Given the description of an element on the screen output the (x, y) to click on. 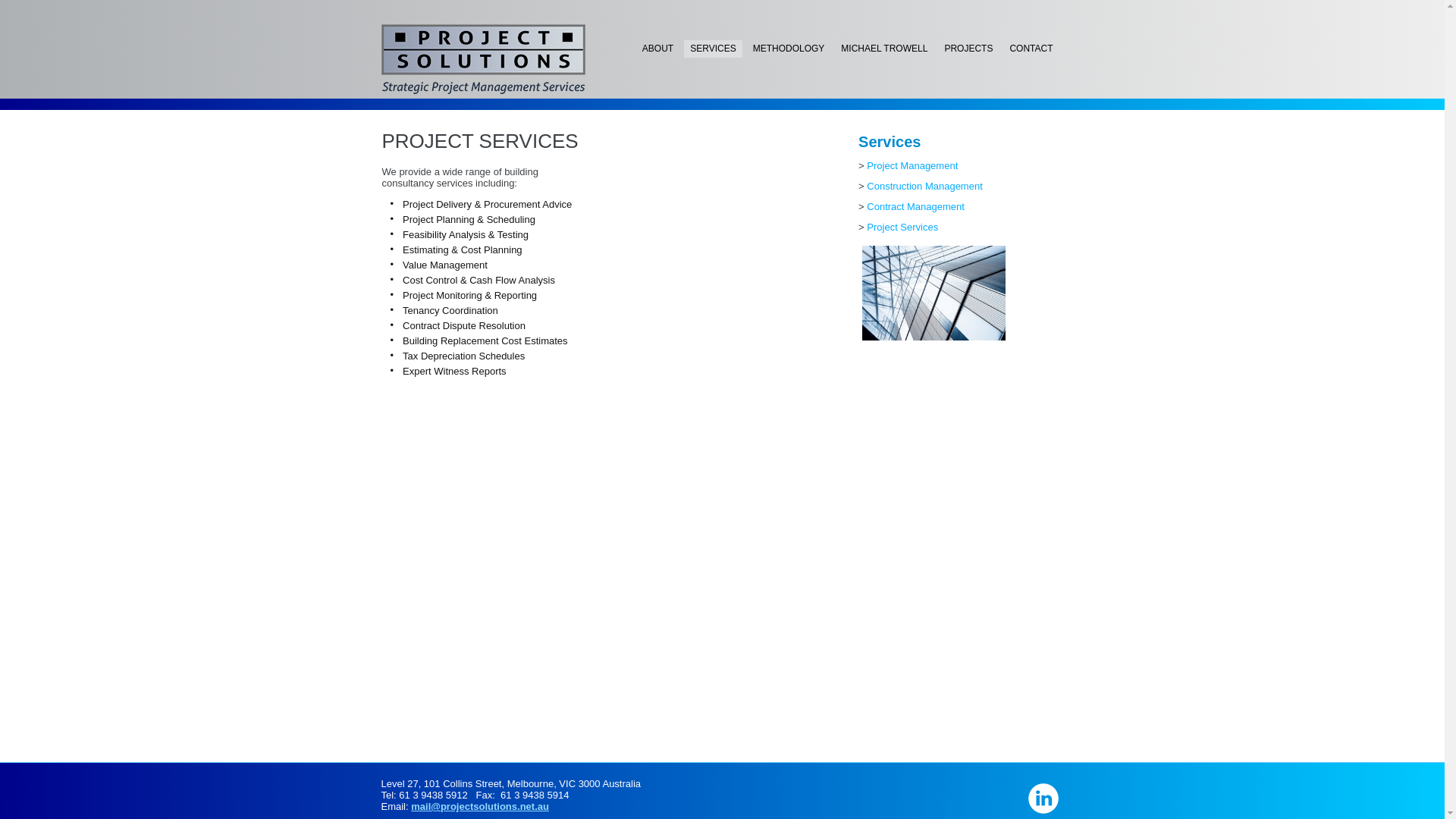
Contract Management Element type: text (915, 206)
METHODOLOGY Element type: text (788, 48)
MICHAEL TROWELL Element type: text (883, 48)
ABOUT Element type: text (657, 48)
Project Management Element type: text (911, 165)
CONTACT Element type: text (1030, 48)
SERVICES Element type: text (712, 48)
PROJECTS Element type: text (968, 48)
mail@projectsolutions.net.au Element type: text (480, 806)
Construction Management Element type: text (924, 185)
Project Services Element type: text (902, 226)
